Given the description of an element on the screen output the (x, y) to click on. 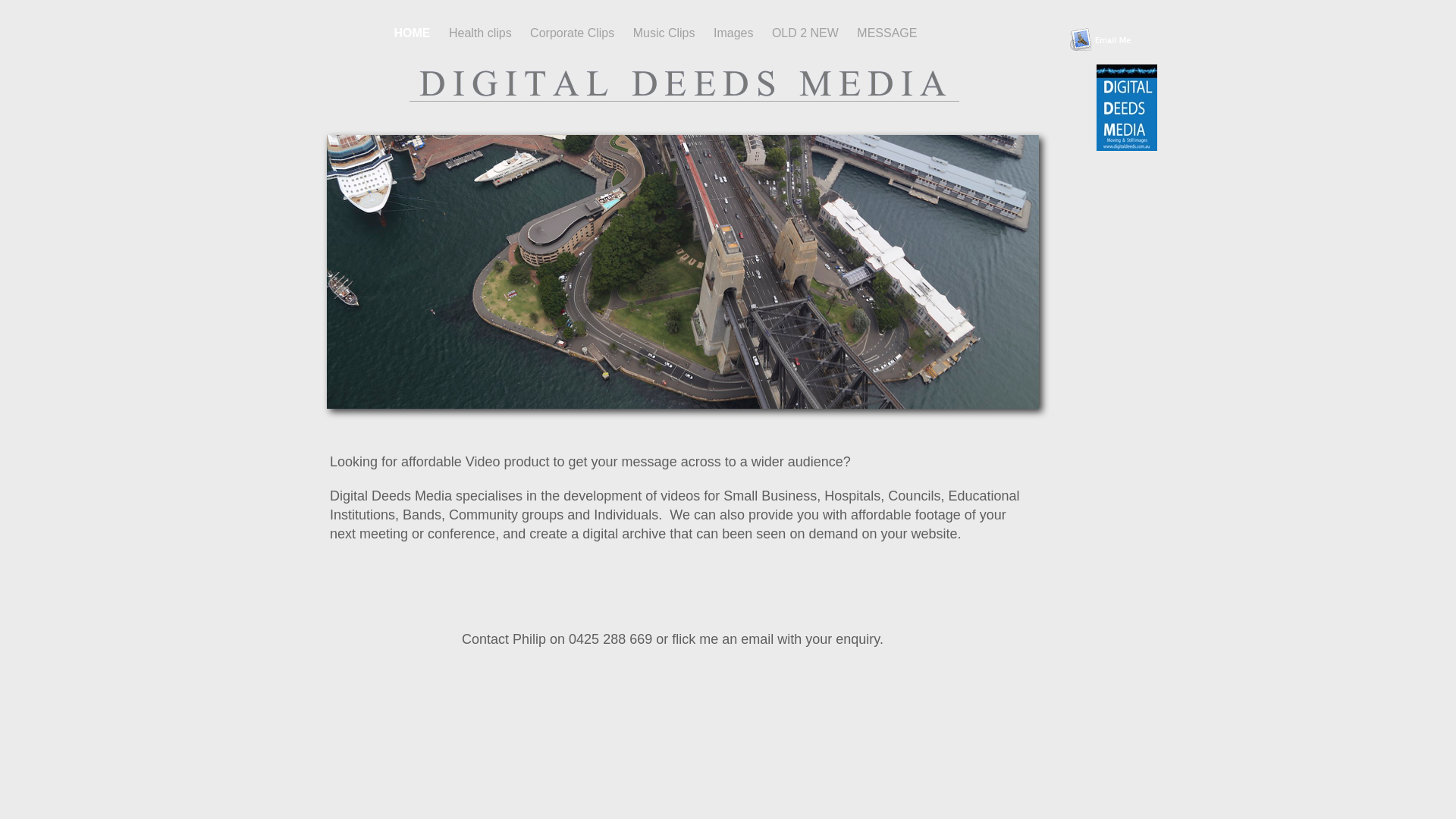
Health clips Element type: text (481, 32)
Images Element type: text (734, 32)
HOME Element type: text (413, 32)
Corporate Clips Element type: text (574, 32)
Music Clips Element type: text (665, 32)
OLD 2 NEW Element type: text (806, 32)
MESSAGE Element type: text (886, 32)
